Given the description of an element on the screen output the (x, y) to click on. 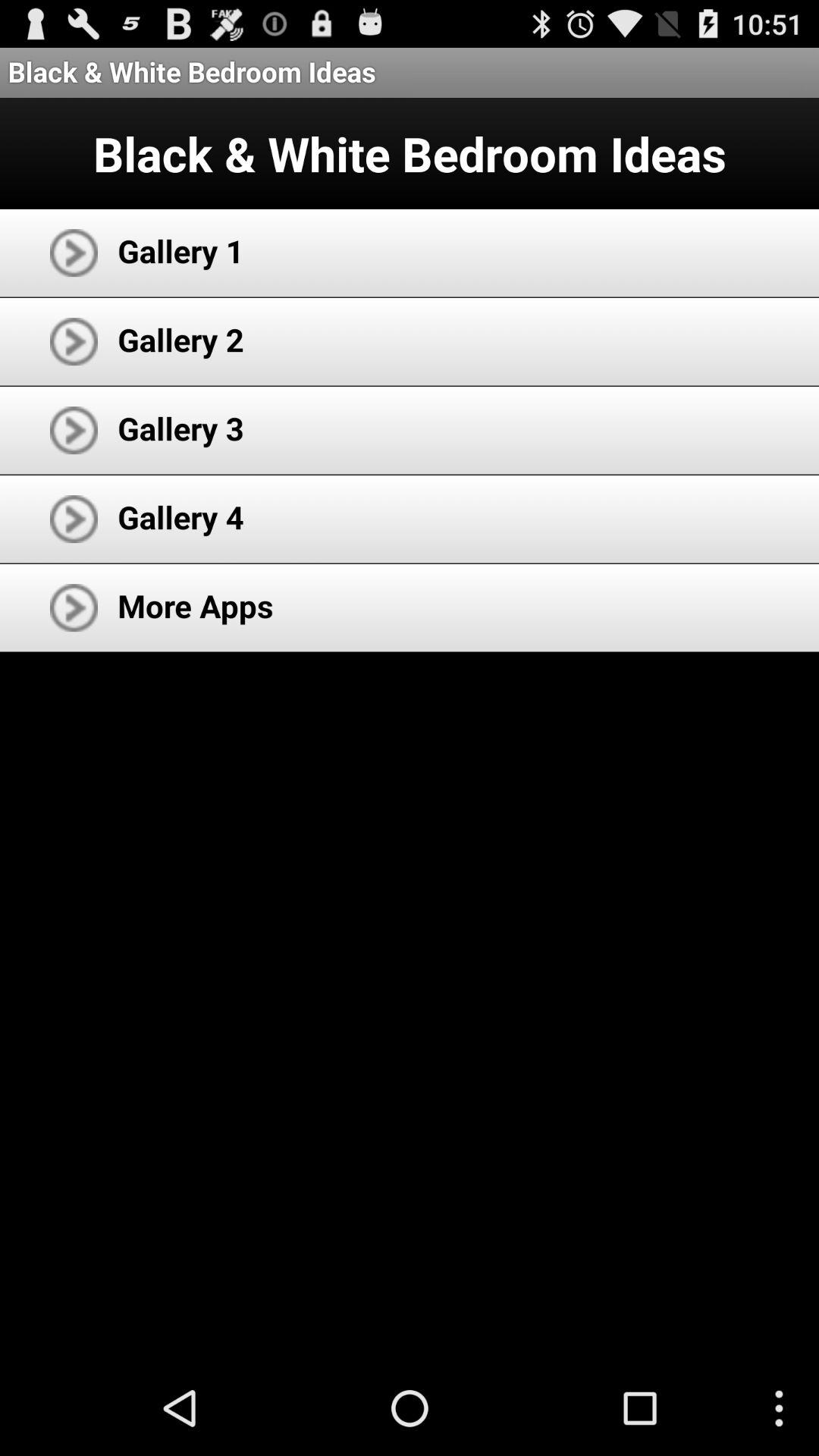
turn off the gallery 2 (180, 339)
